Given the description of an element on the screen output the (x, y) to click on. 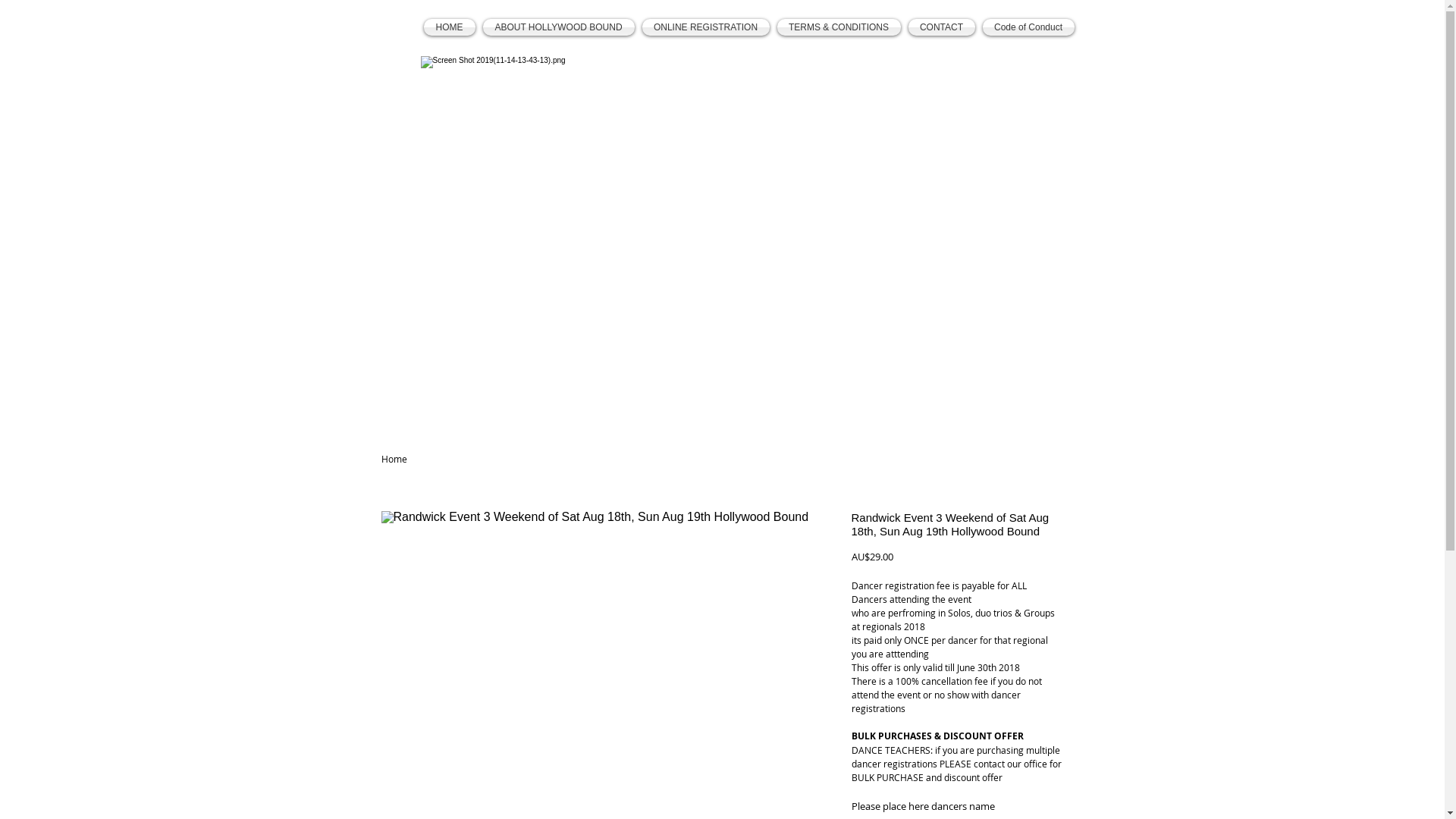
Code of Conduct Element type: text (1025, 26)
Home Element type: text (393, 458)
TERMS & CONDITIONS Element type: text (838, 26)
ONLINE REGISTRATION Element type: text (705, 26)
ABOUT HOLLYWOOD BOUND Element type: text (558, 26)
CONTACT Element type: text (940, 26)
HOME Element type: text (450, 26)
